Given the description of an element on the screen output the (x, y) to click on. 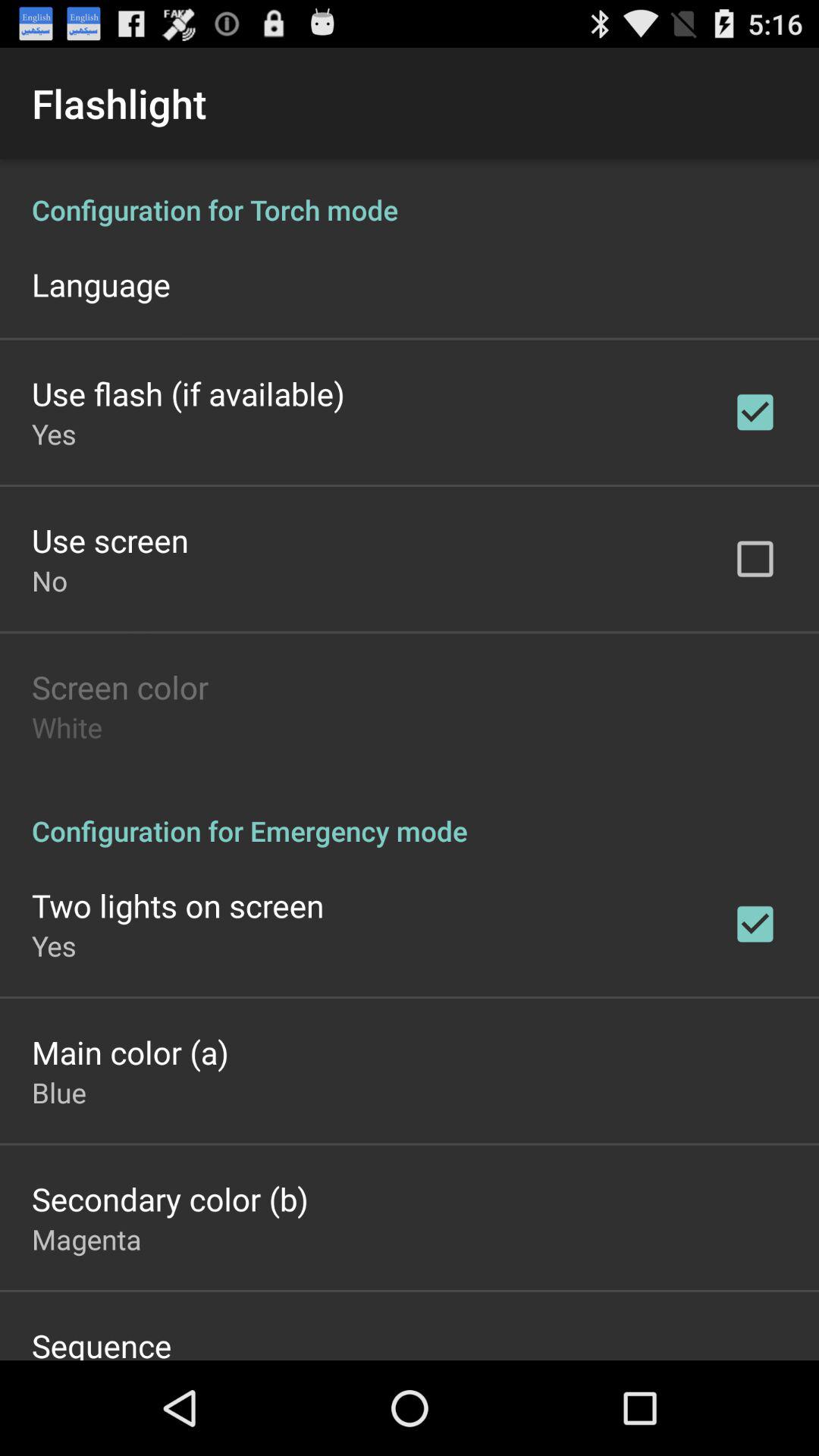
press use flash if app (187, 393)
